Given the description of an element on the screen output the (x, y) to click on. 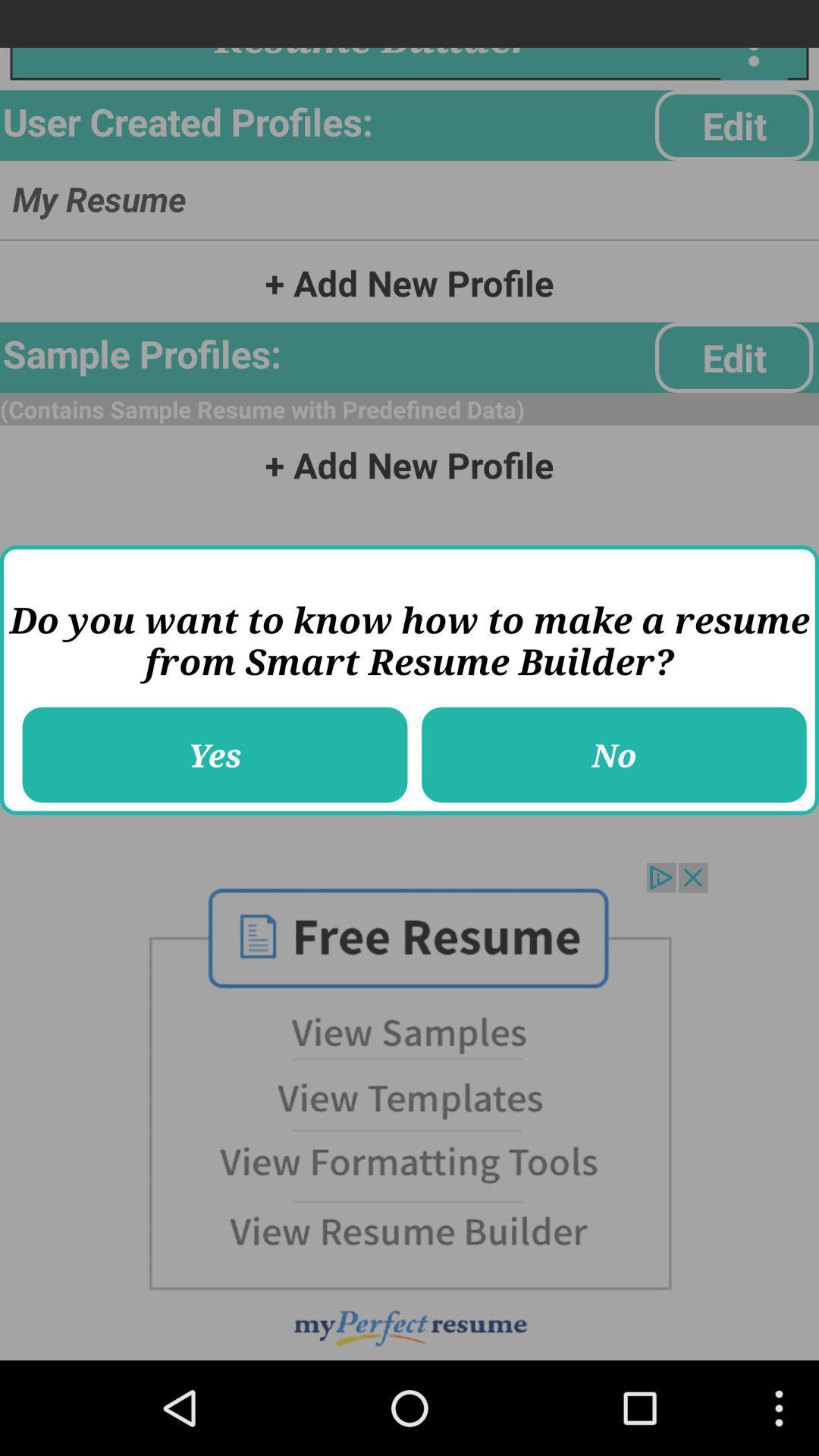
tap button on the left (214, 754)
